Given the description of an element on the screen output the (x, y) to click on. 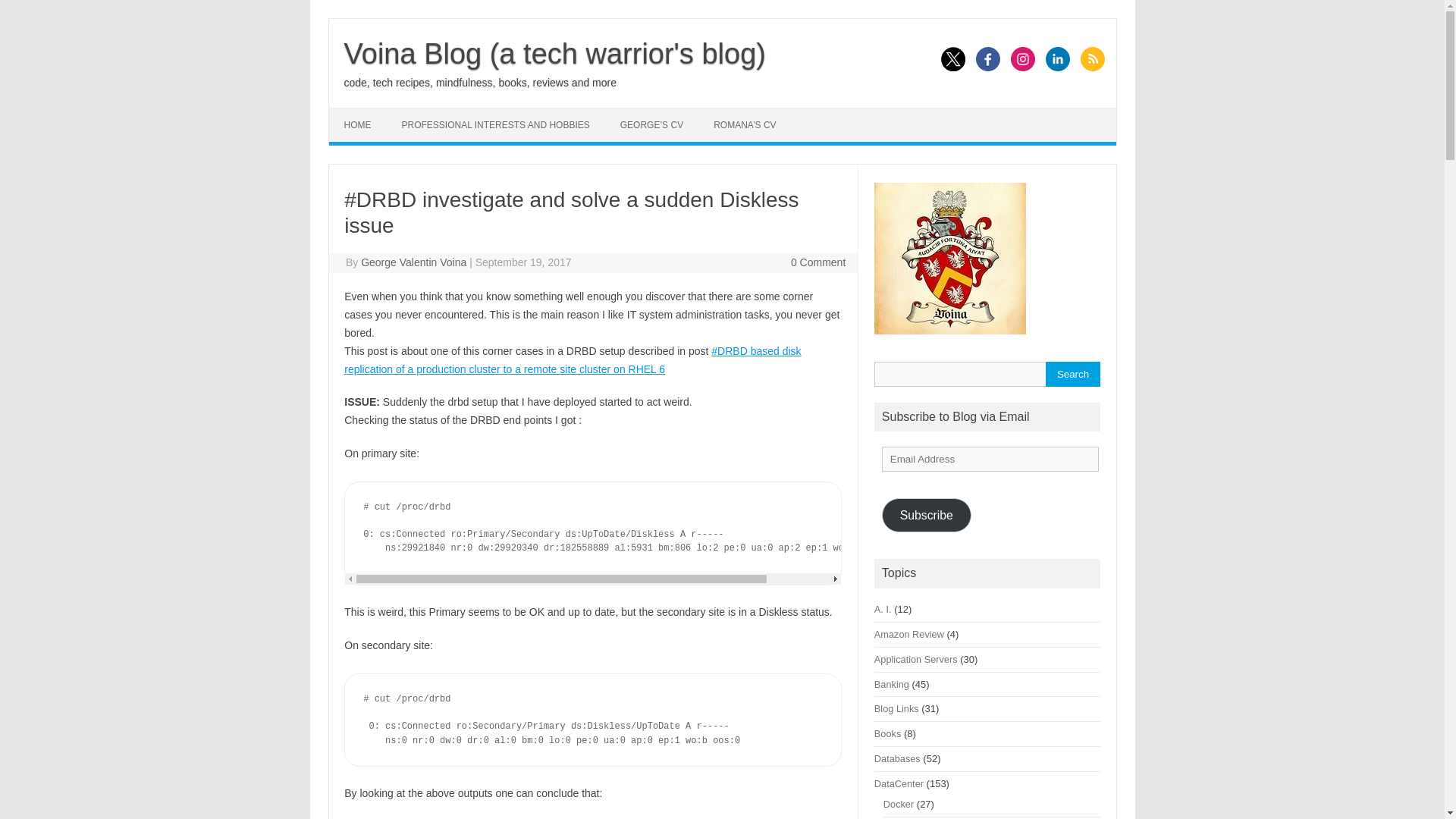
Search (1072, 373)
Amazon Review (909, 633)
code, tech recipes, mindfulness, books, reviews and more (480, 82)
George Valentin Voina (413, 262)
PROFESSIONAL INTERESTS AND HOBBIES (496, 124)
Search (1072, 373)
Subscribe (926, 514)
A. I. (883, 609)
0 Comment (817, 262)
